Given the description of an element on the screen output the (x, y) to click on. 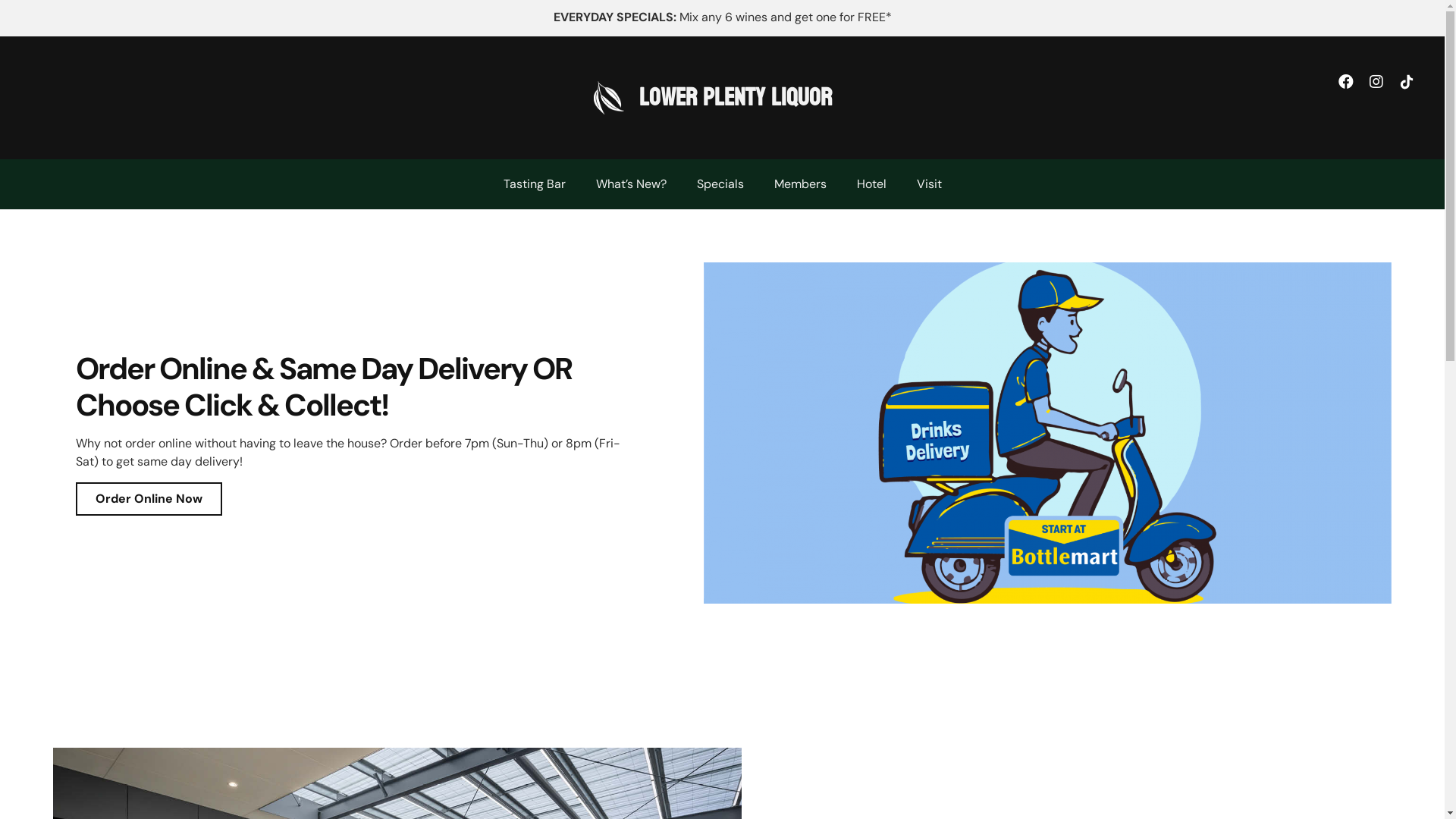
Hotel Element type: text (871, 183)
Members Element type: text (799, 183)
Specials Element type: text (719, 183)
Lower Plenty Liquor Element type: text (735, 97)
Tasting Bar Element type: text (534, 183)
Visit Element type: text (928, 183)
